Given the description of an element on the screen output the (x, y) to click on. 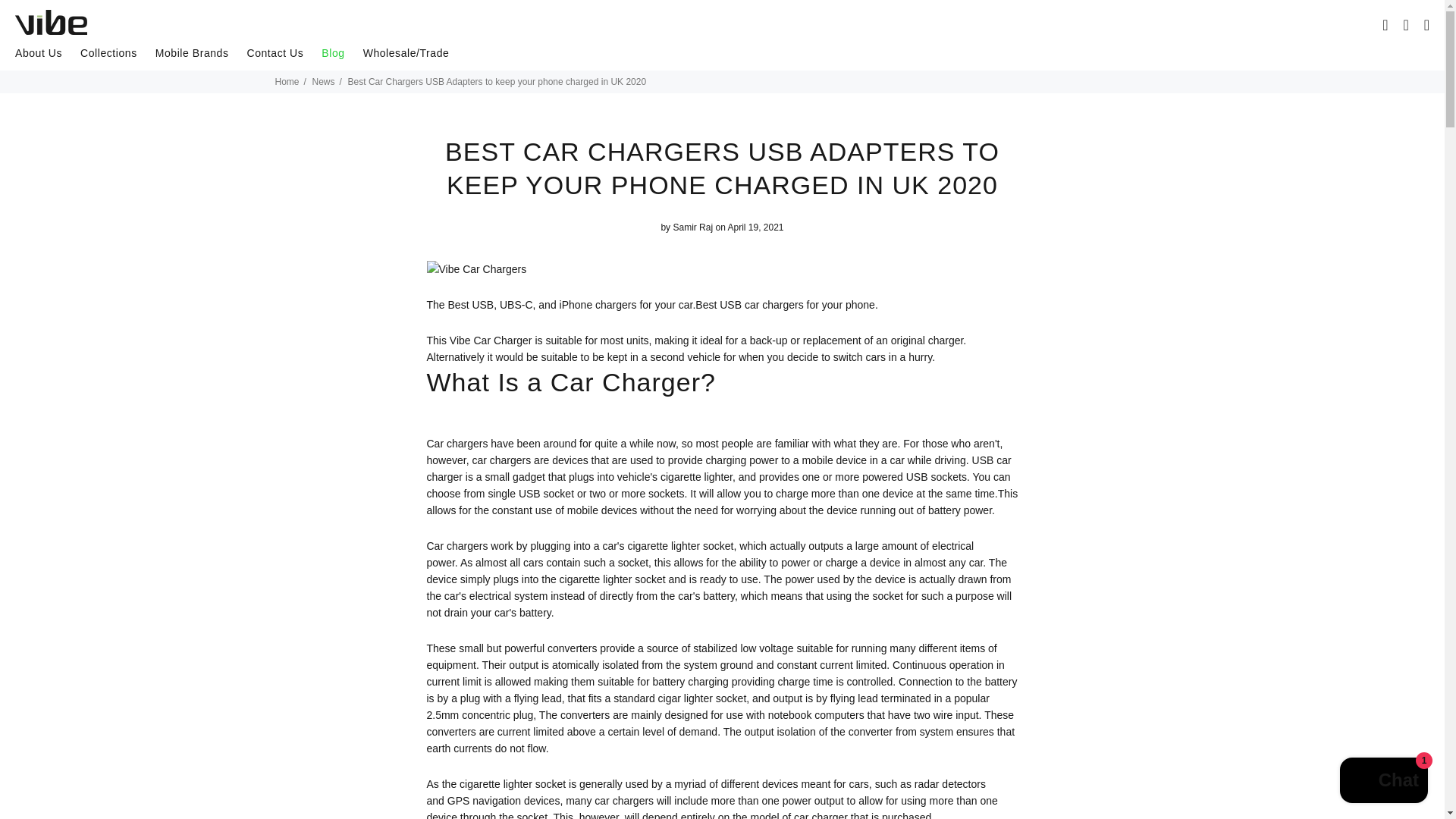
Shopify online store chat (1383, 781)
